Given the description of an element on the screen output the (x, y) to click on. 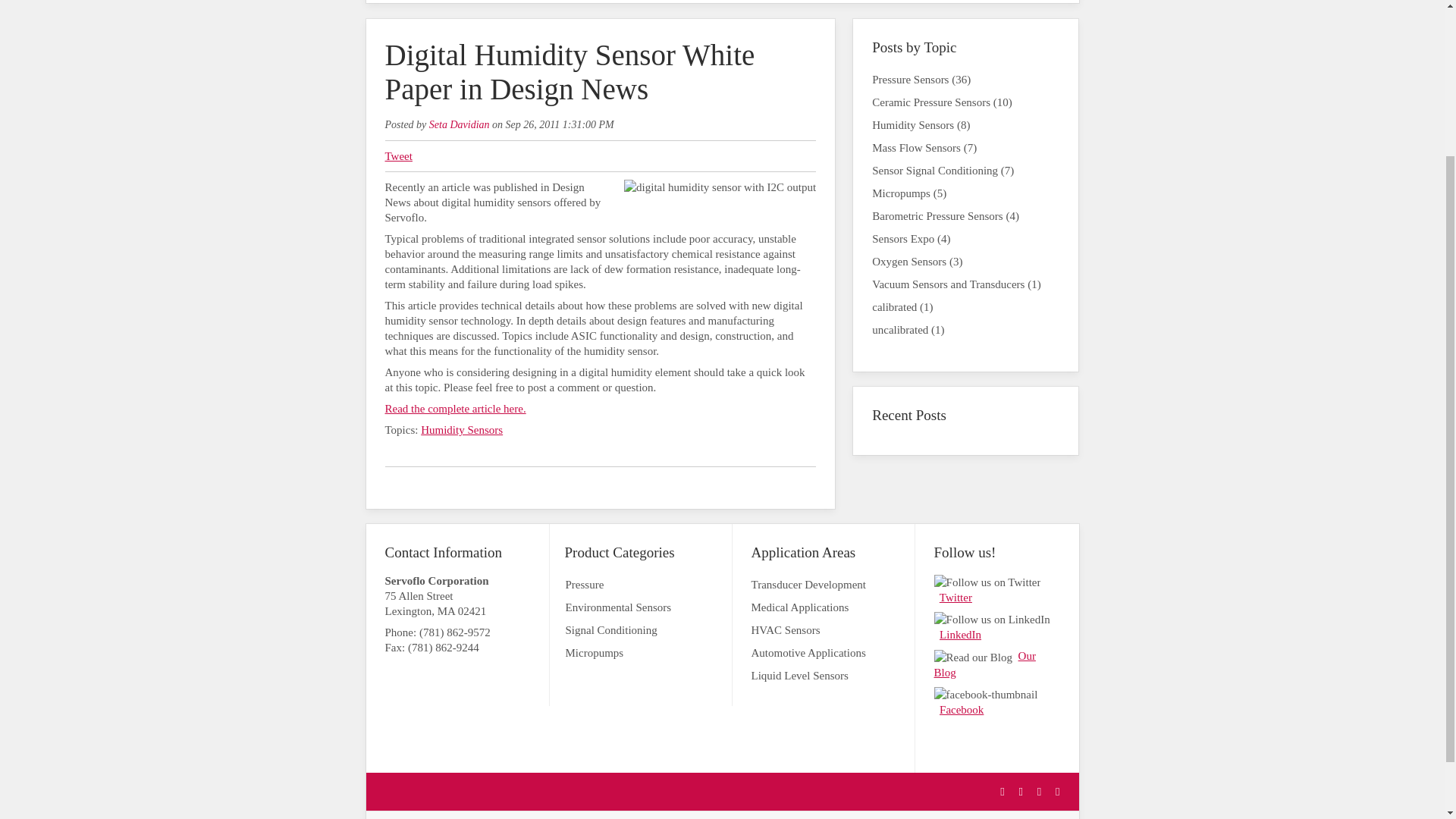
Read the complete article here. (455, 408)
